Given the description of an element on the screen output the (x, y) to click on. 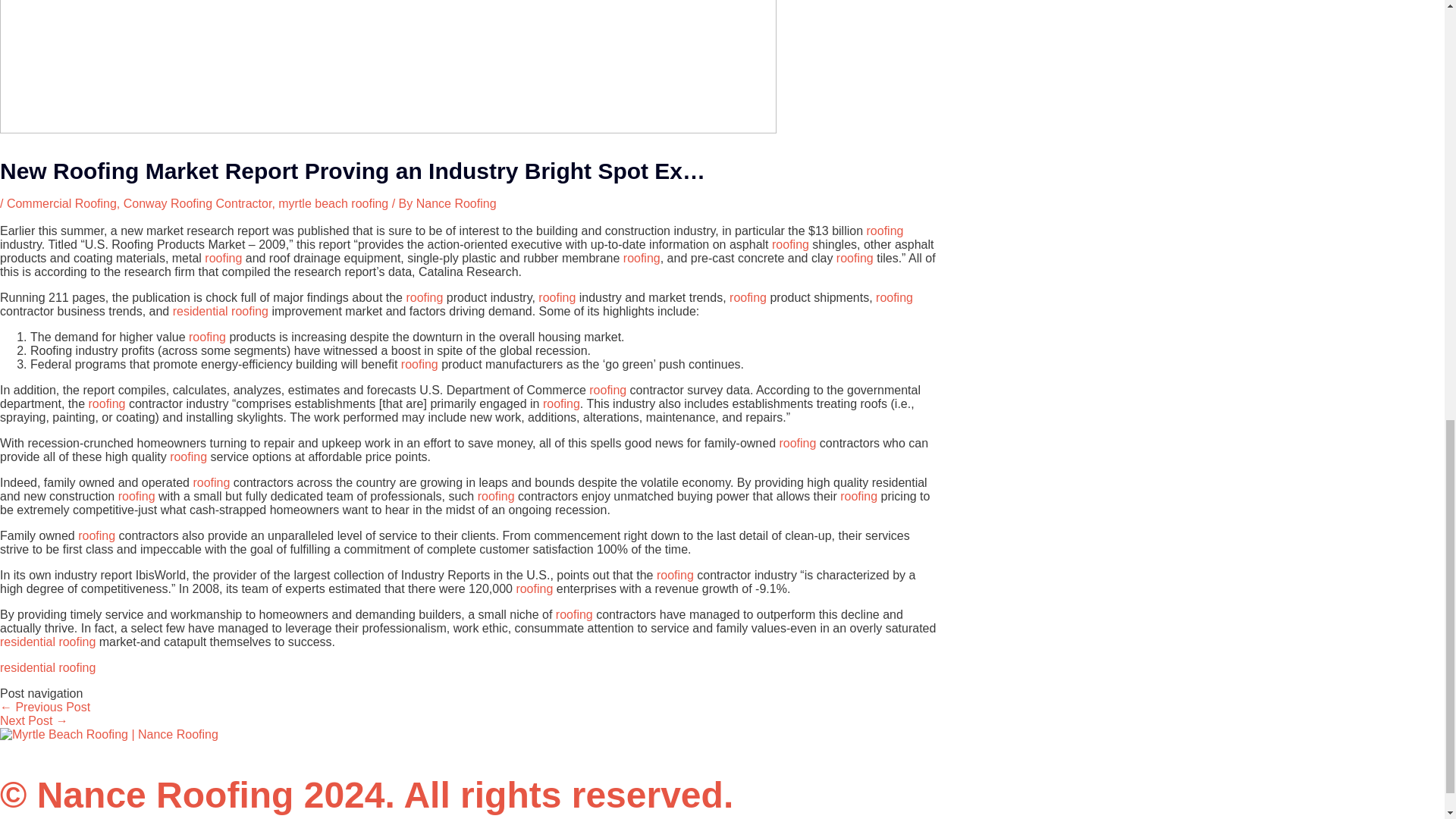
View all posts by Nance Roofing (456, 203)
